Given the description of an element on the screen output the (x, y) to click on. 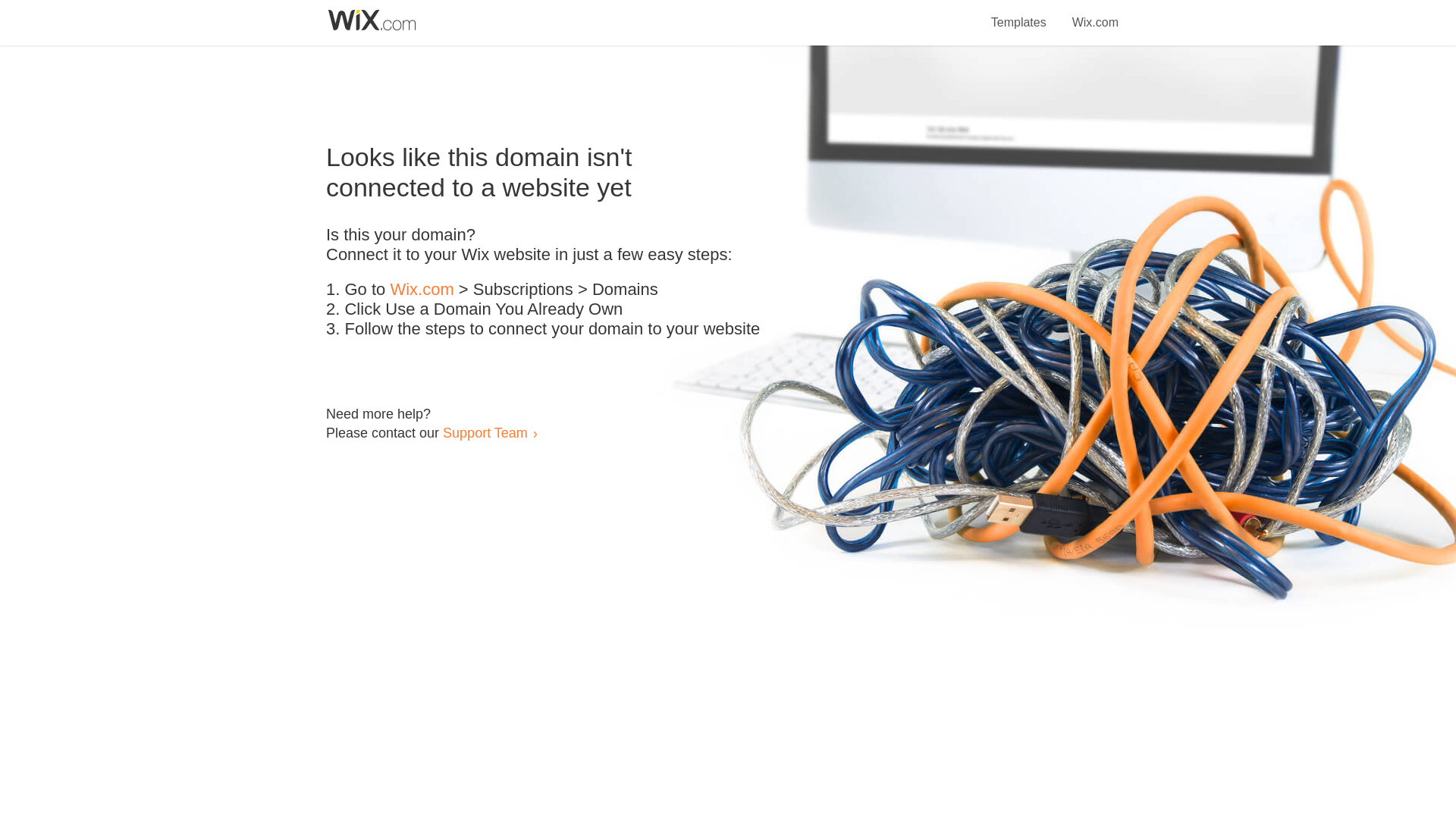
Wix.com (421, 289)
Wix.com (1095, 14)
Templates (1018, 14)
Support Team (484, 432)
